Given the description of an element on the screen output the (x, y) to click on. 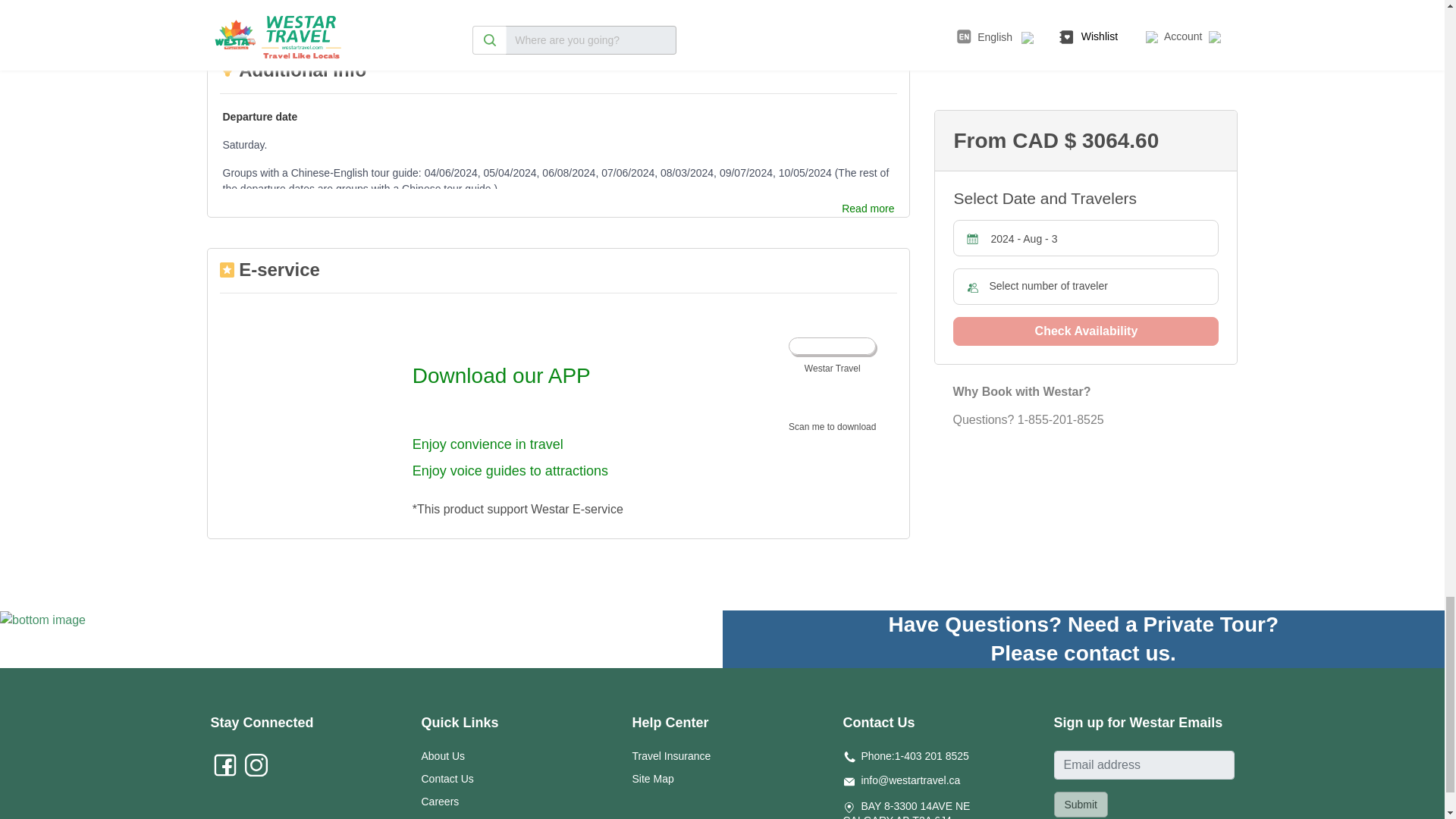
phone (849, 756)
About Us (443, 756)
Contact Us (448, 778)
